Given the description of an element on the screen output the (x, y) to click on. 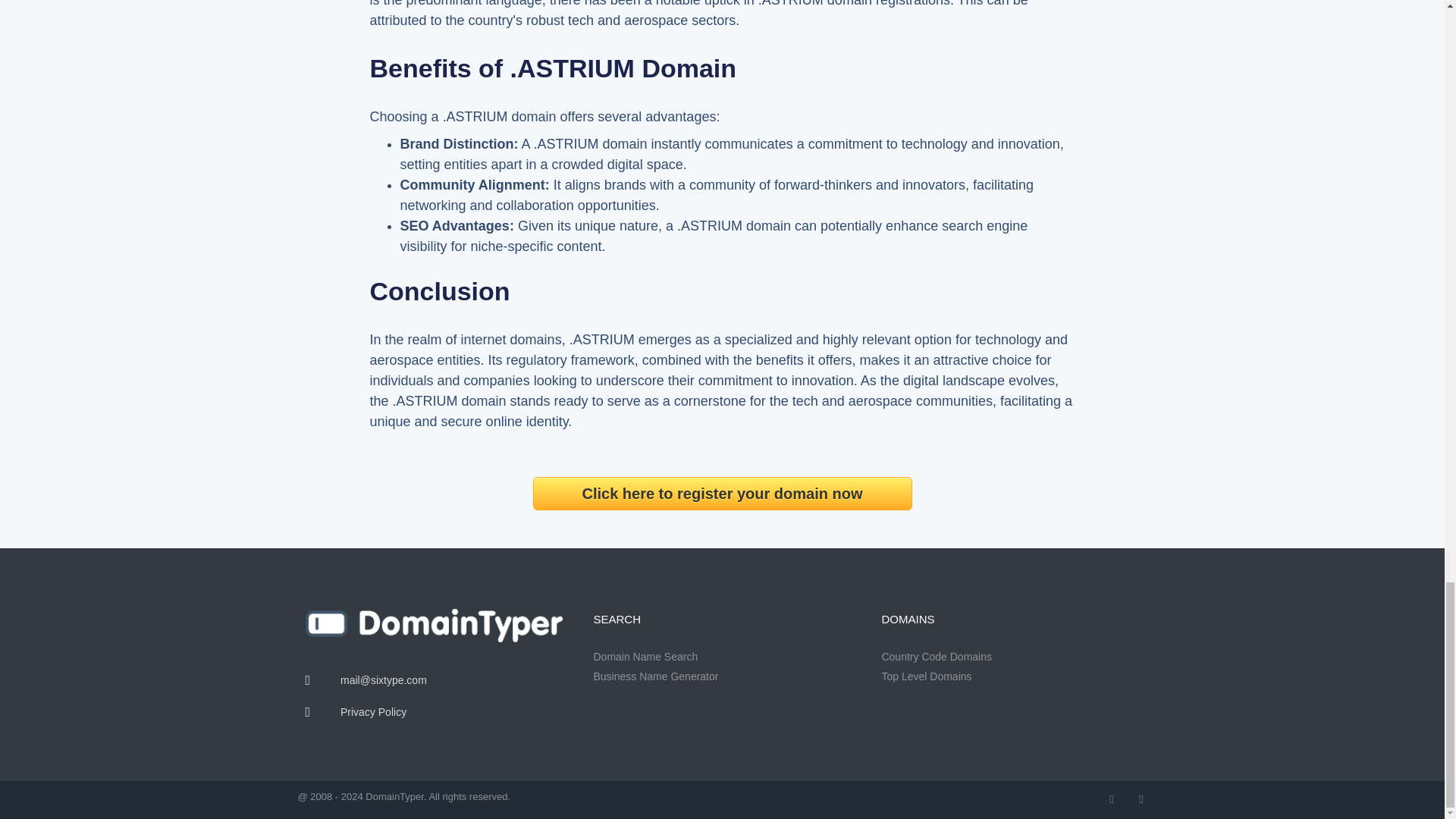
Domain Name Search (721, 657)
Click here to register your domain now (721, 493)
Top Level Domains (1009, 676)
Business Name Generator (721, 676)
Country Code Domains (1009, 657)
Privacy Policy (433, 712)
